Given the description of an element on the screen output the (x, y) to click on. 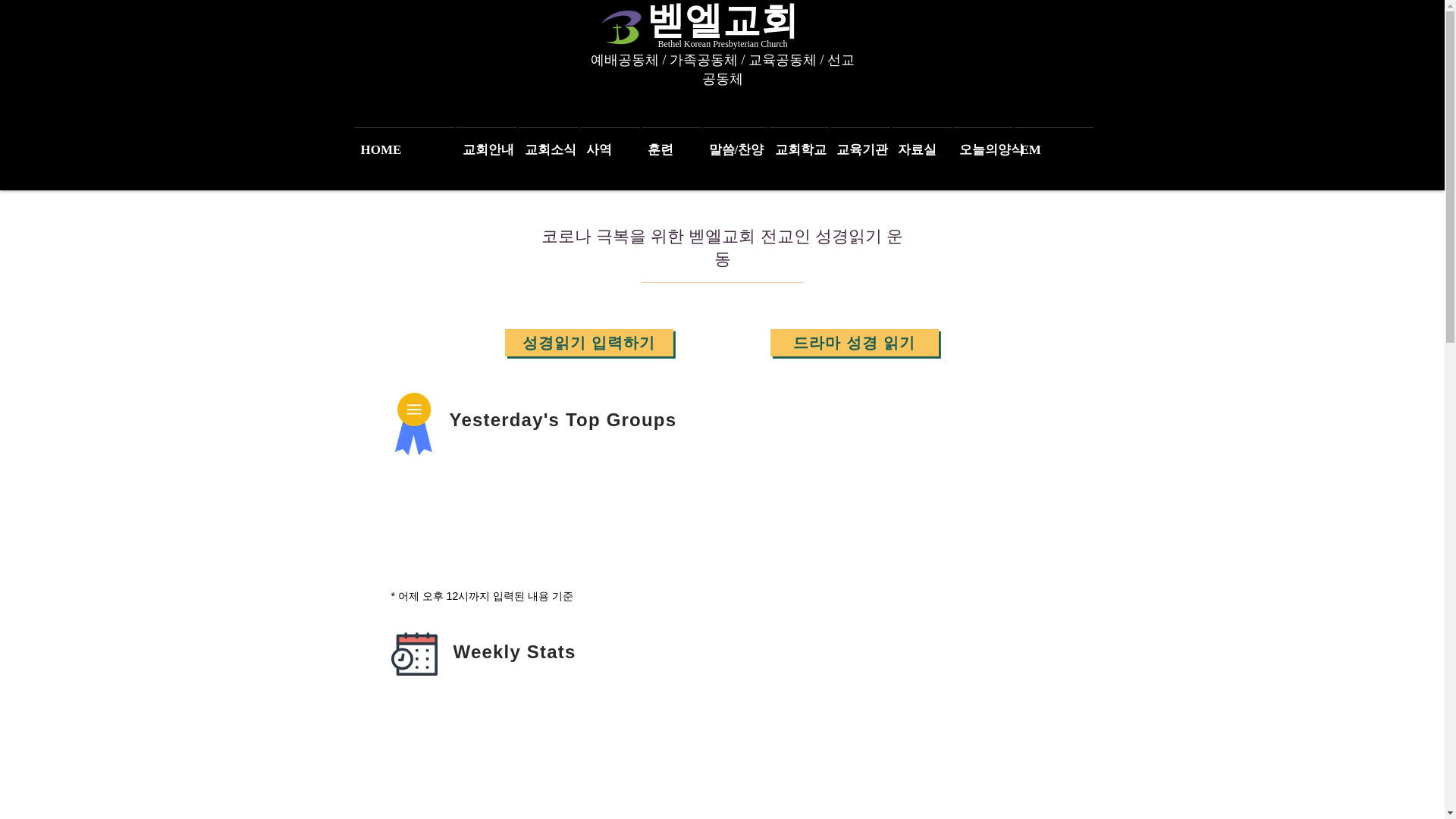
HOME (403, 142)
Bethel Korean Presbyterian Church (722, 42)
